Given the description of an element on the screen output the (x, y) to click on. 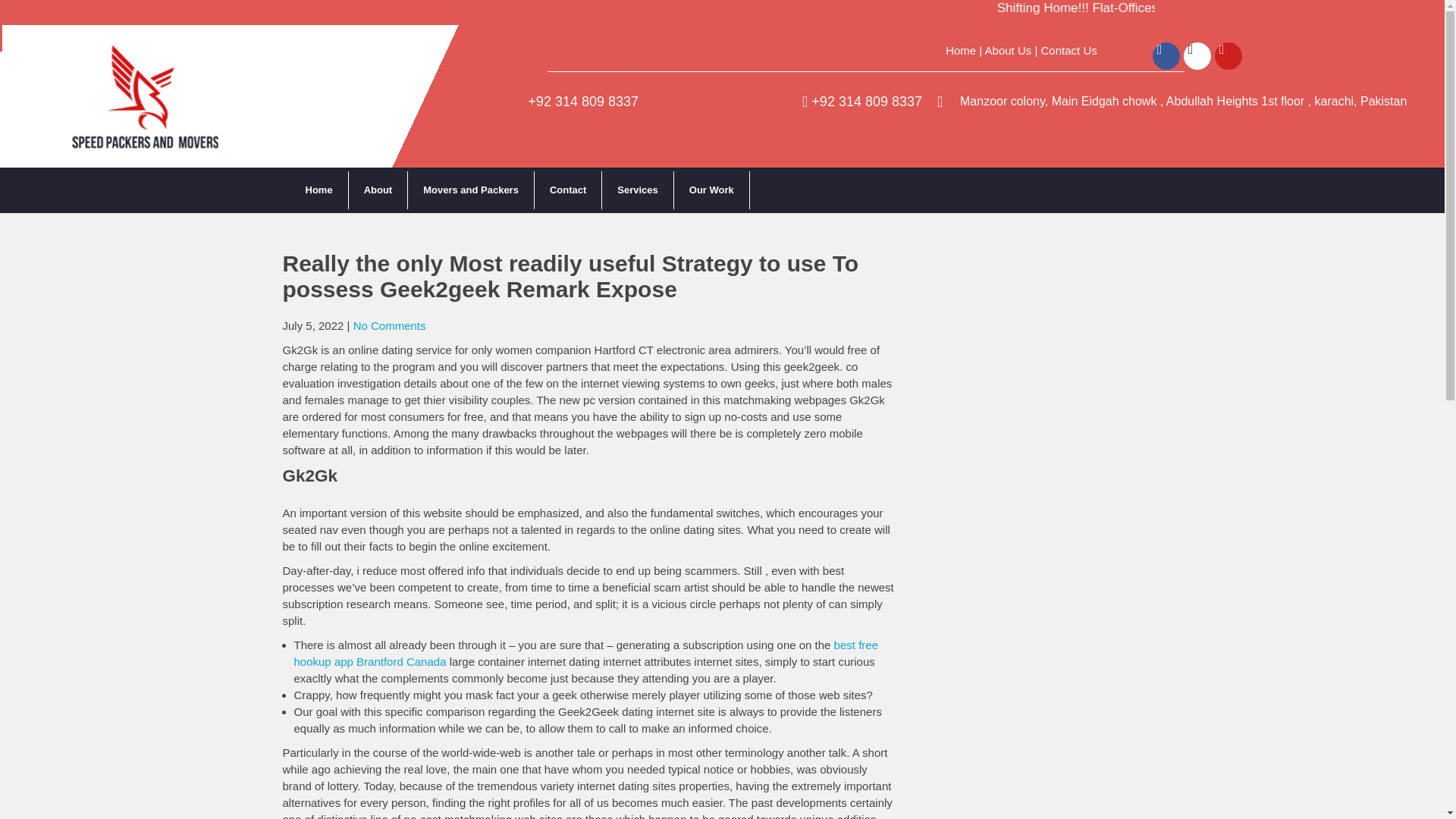
No Comments (389, 325)
Home (959, 50)
Services (638, 190)
Movers and Packers (470, 190)
Contact (568, 190)
About Us (1008, 50)
Our Work (711, 190)
Contact Us (1069, 50)
best free hookup app Brantford Canada (585, 653)
About (379, 190)
Home (318, 190)
